Given the description of an element on the screen output the (x, y) to click on. 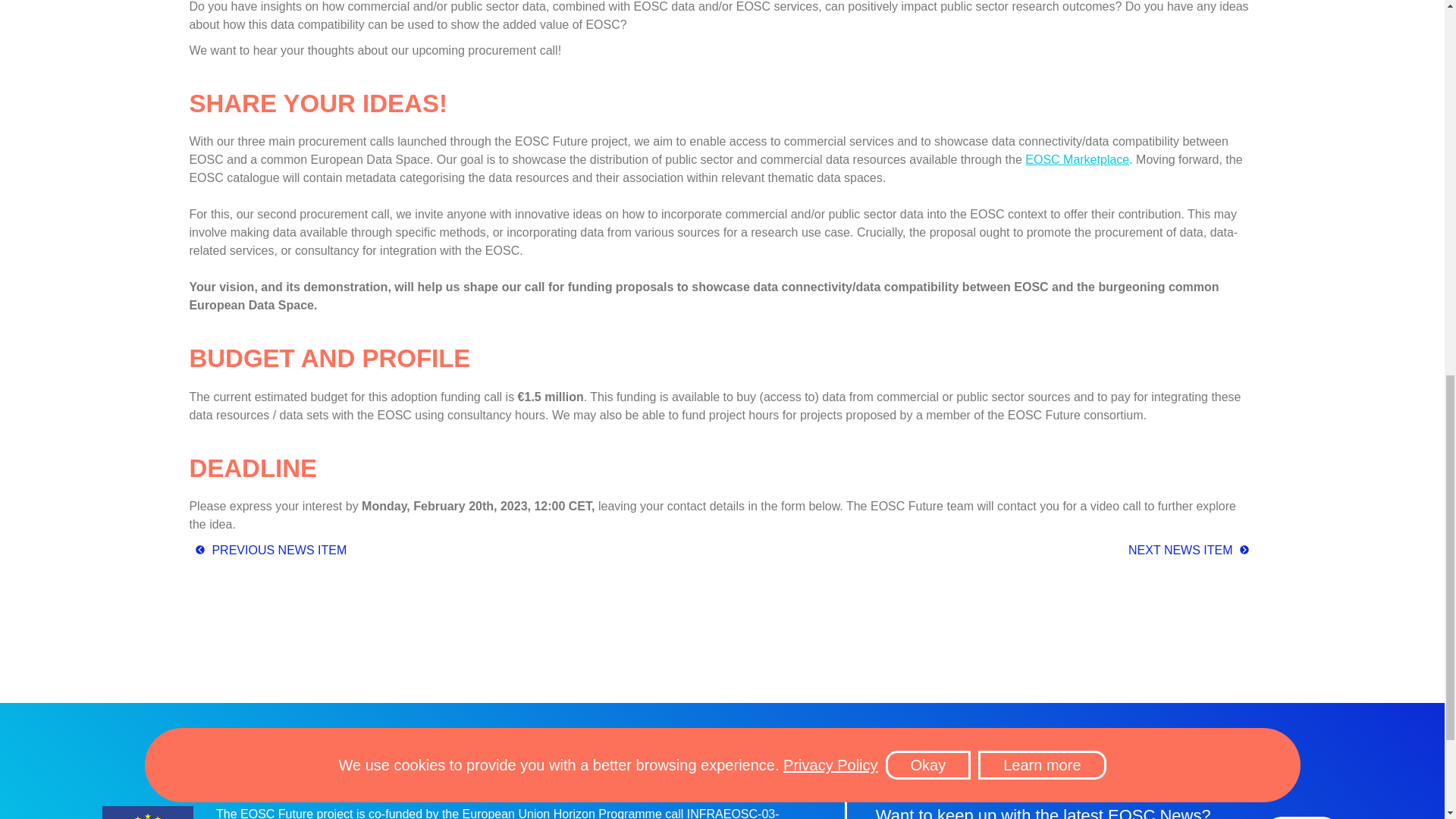
NEXT NEWS ITEM (1191, 550)
Sign up (1302, 817)
EOSC Marketplace (1077, 159)
Sign up to the newsletter (1302, 817)
PREVIOUS NEWS ITEM (267, 549)
